Given the description of an element on the screen output the (x, y) to click on. 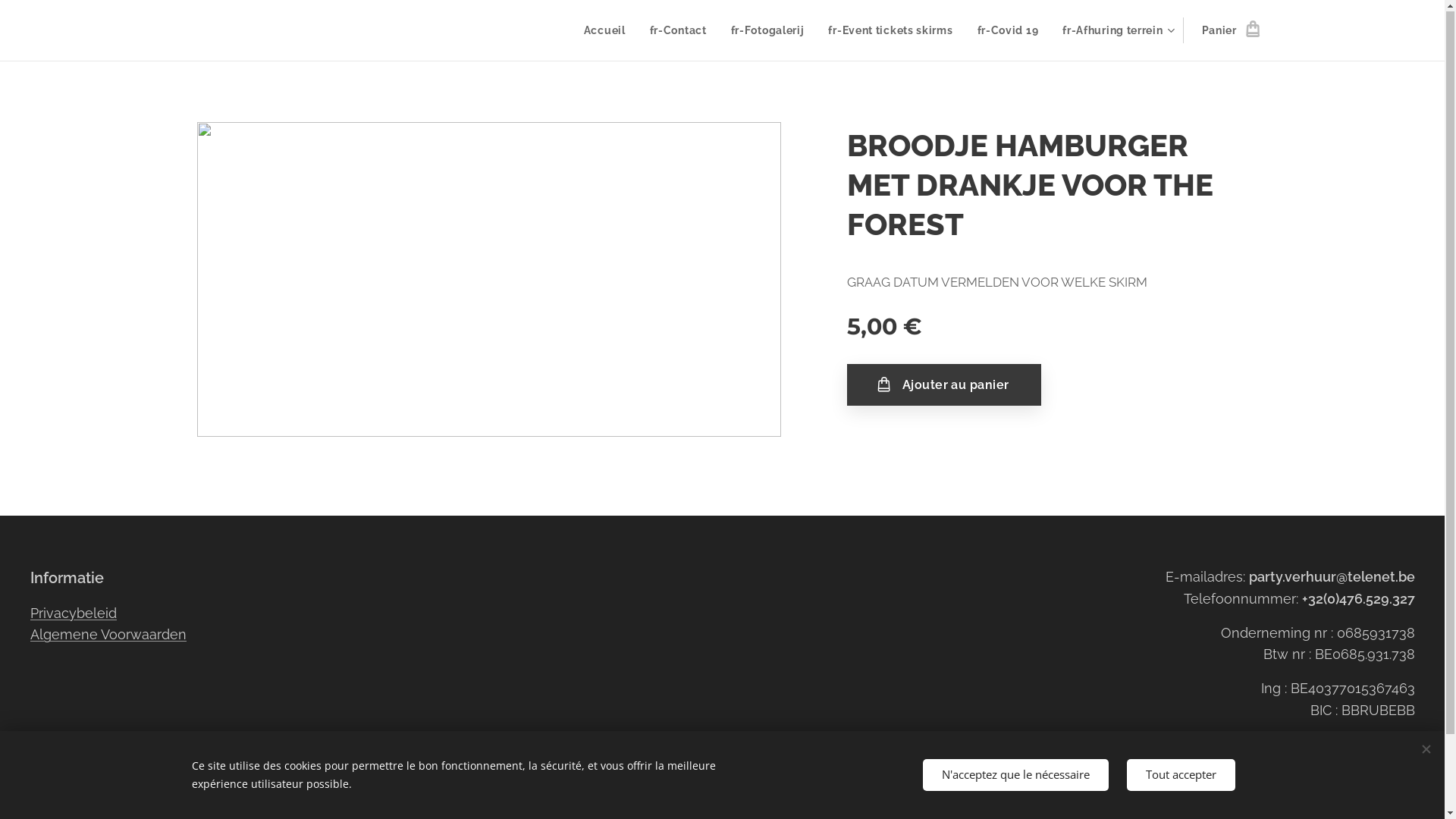
fr-Event tickets skirms Element type: text (889, 31)
fr-Fotogalerij Element type: text (767, 31)
Accueil Element type: text (608, 31)
Privacybeleid Element type: text (73, 613)
fr-Contact Element type: text (677, 31)
Algemene Voorwaarden Element type: text (108, 635)
fr-Covid 19 Element type: text (1008, 31)
Panier Element type: text (1225, 31)
fr-Afhuring terrein Element type: text (1116, 31)
Ajouter au panier Element type: text (943, 385)
Tout accepter Element type: text (1180, 774)
